Given the description of an element on the screen output the (x, y) to click on. 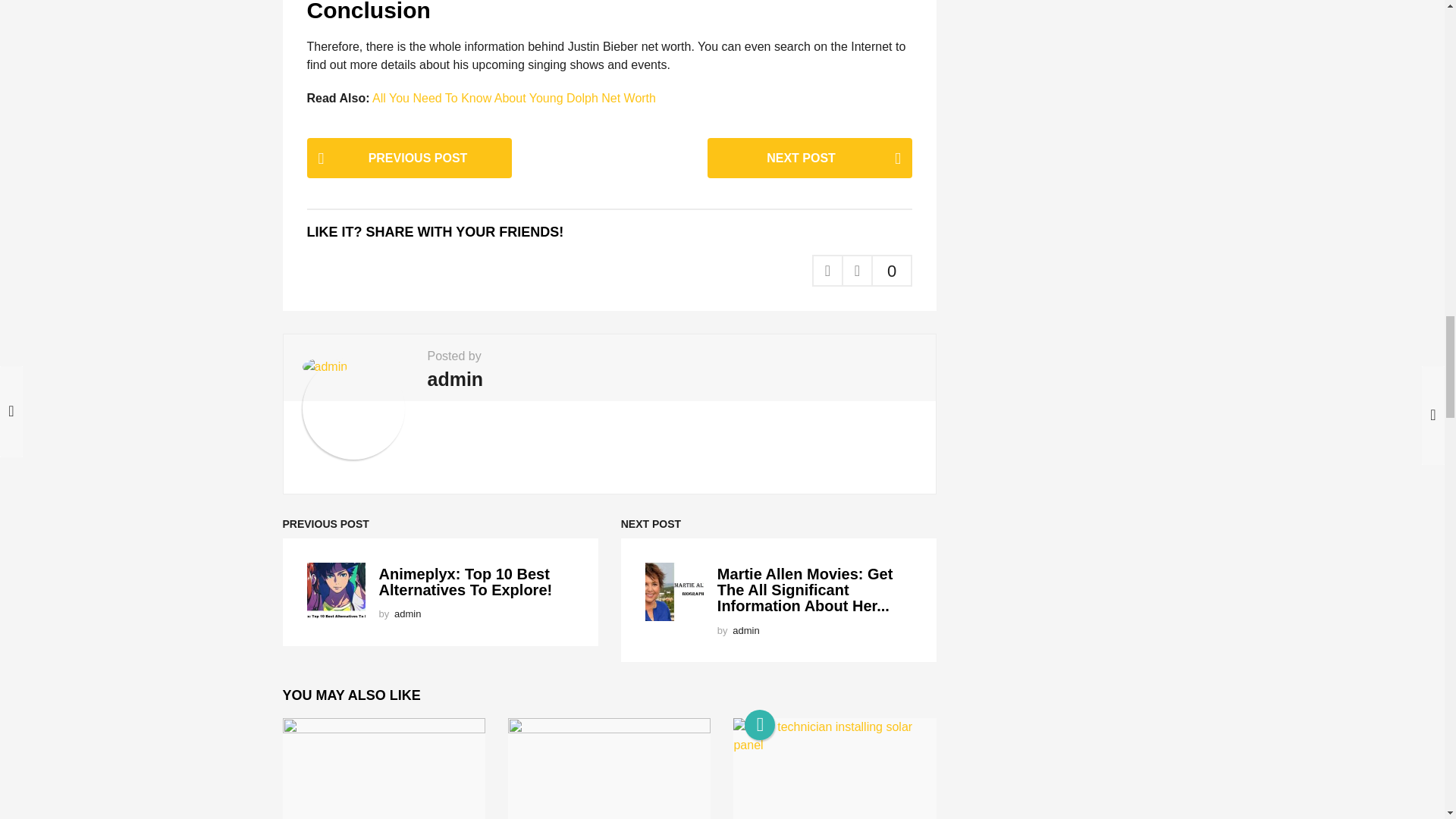
admin (455, 378)
All You Need To Know About Young Dolph Net Worth (514, 97)
NEXT POST (809, 158)
admin (407, 613)
Investing in Solar Panels: Saving Money and the Environment (834, 768)
PREVIOUS POST (408, 158)
Animeplyx: Top 10 Best Alternatives To Explore! (465, 581)
Popular (759, 725)
